Given the description of an element on the screen output the (x, y) to click on. 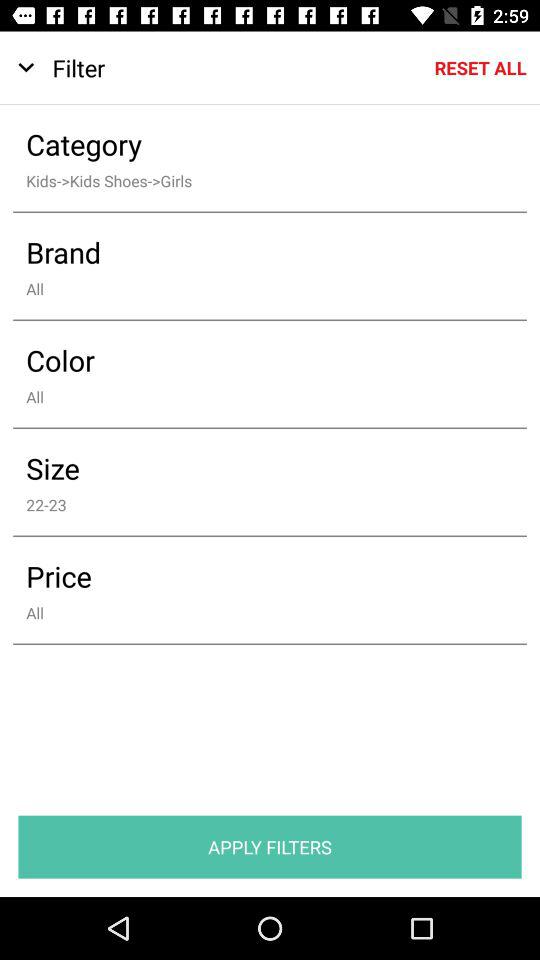
press item above all (256, 251)
